Given the description of an element on the screen output the (x, y) to click on. 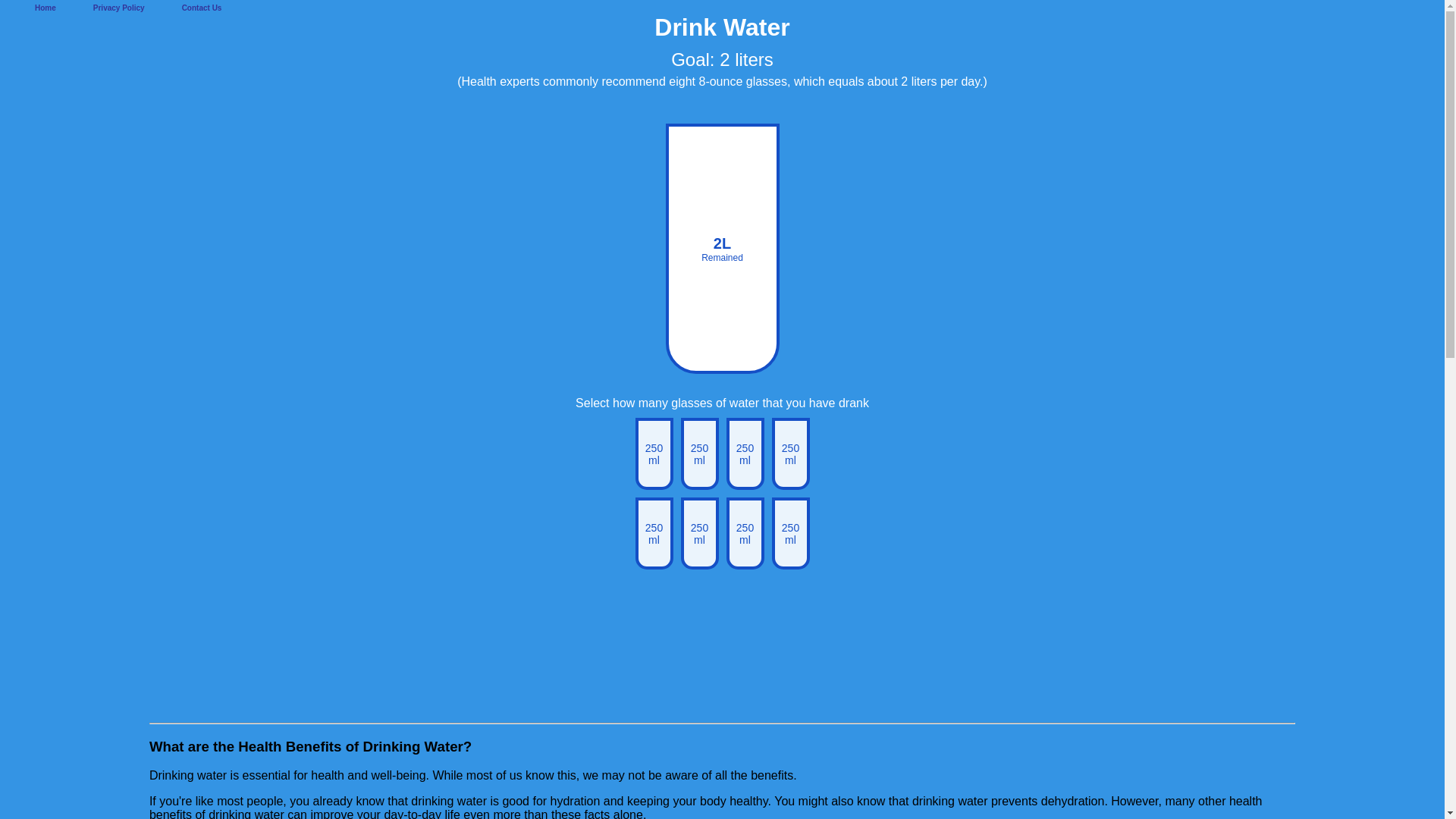
Privacy Policy (118, 8)
Home (45, 8)
Contact Us (202, 8)
